Given the description of an element on the screen output the (x, y) to click on. 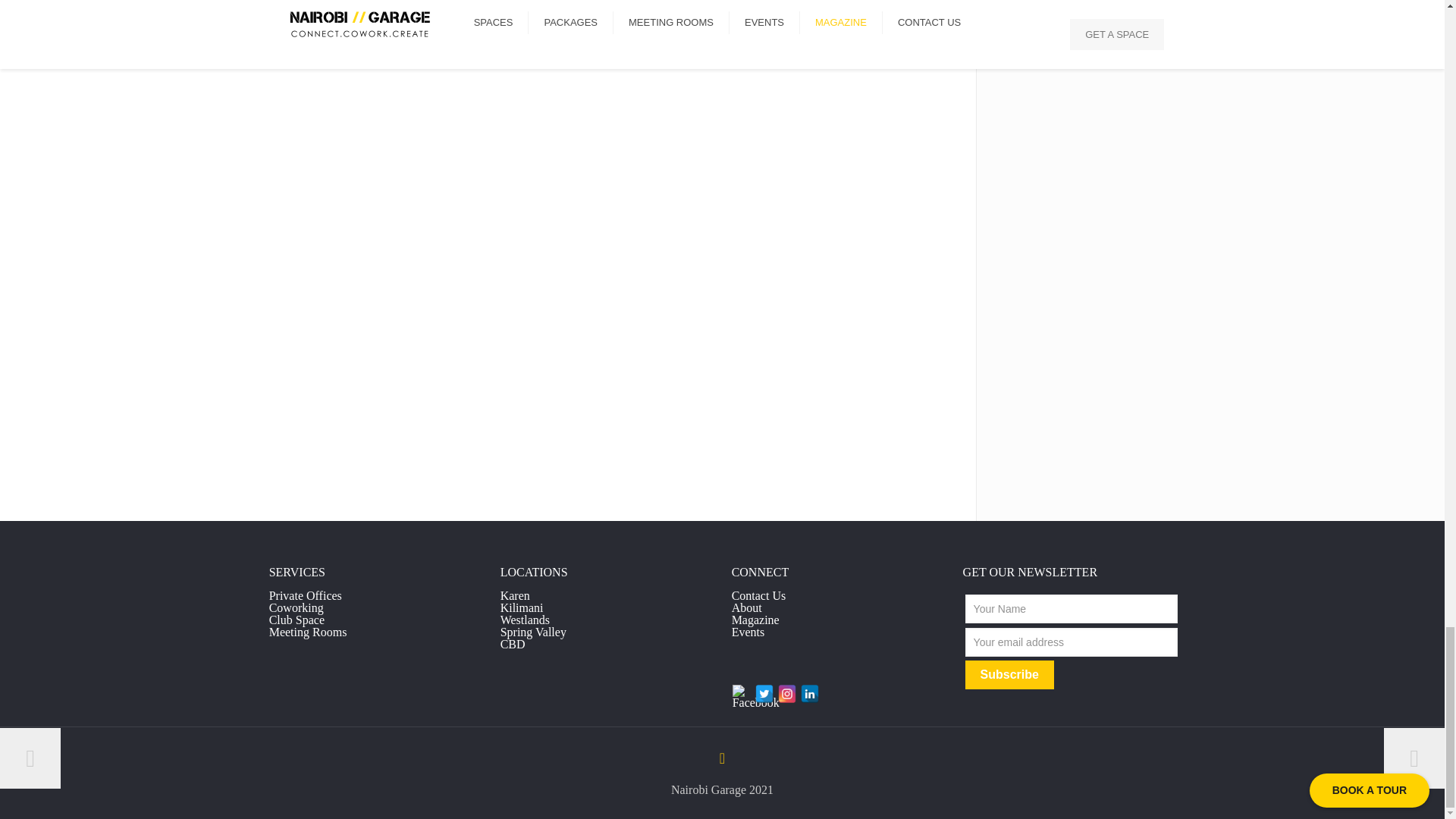
Facebook (741, 693)
Twitter (764, 693)
Subscribe (1009, 674)
Instagram (786, 693)
LinkedIn (809, 693)
